Given the description of an element on the screen output the (x, y) to click on. 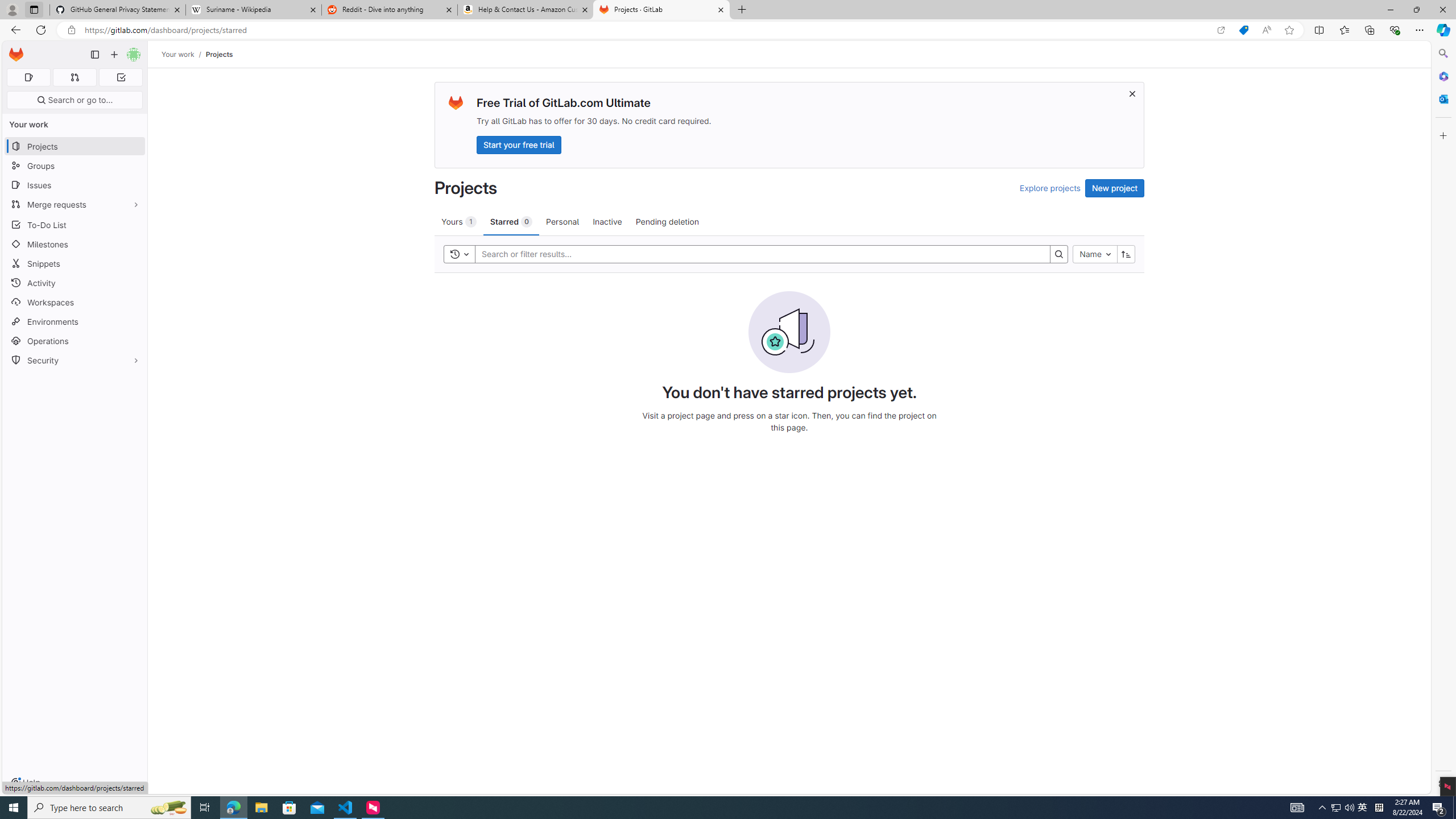
Operations (74, 340)
New project (1114, 187)
Dismiss trial promotion (1131, 93)
Activity (74, 282)
Issues (74, 185)
Explore projects (1049, 187)
Activity (74, 282)
